Given the description of an element on the screen output the (x, y) to click on. 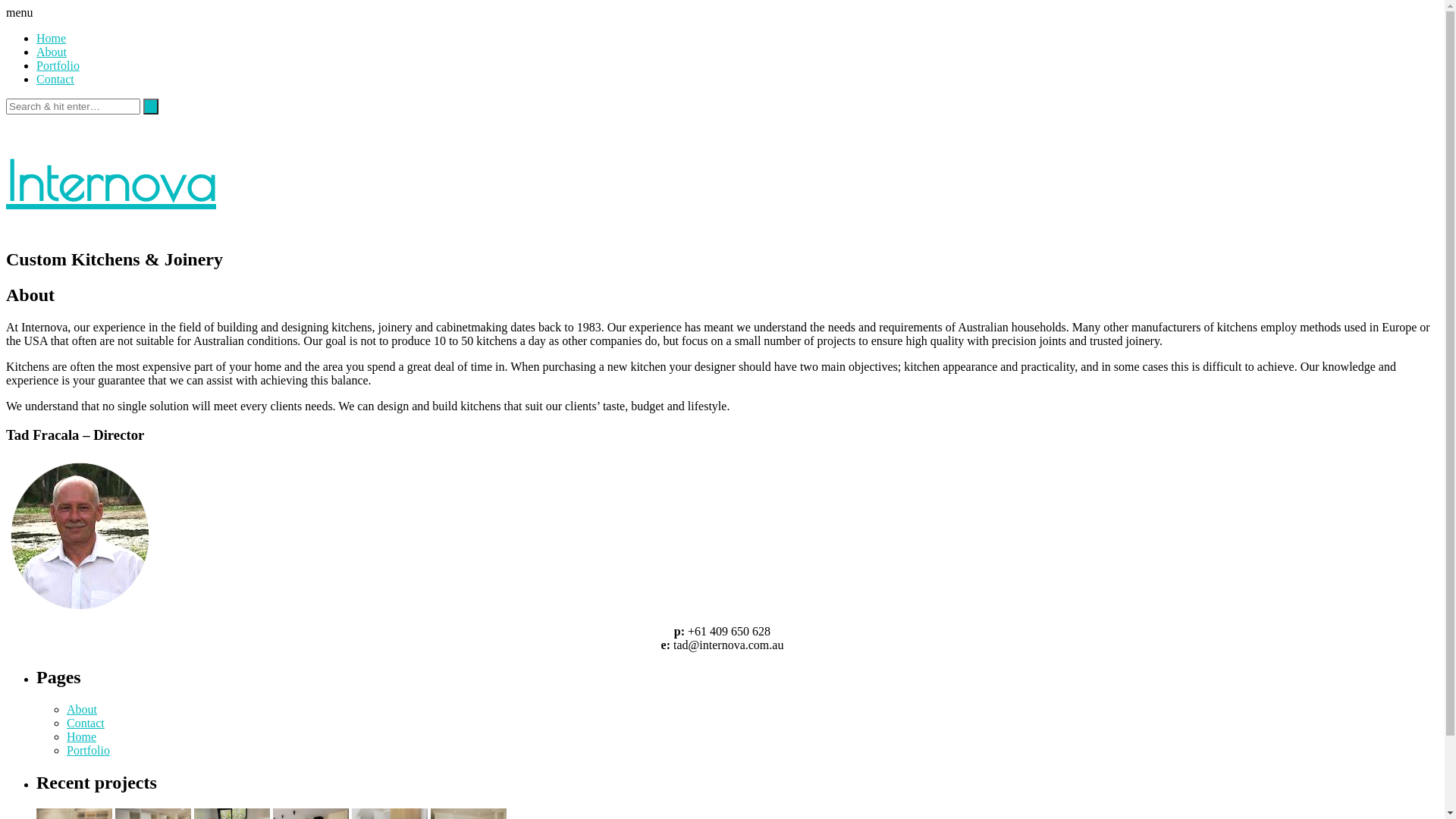
Home Element type: text (81, 736)
Portfolio Element type: text (87, 749)
About Element type: text (51, 51)
Portfolio Element type: text (57, 65)
Internova Element type: text (111, 181)
About Element type: text (81, 708)
Contact Element type: text (55, 78)
Contact Element type: text (85, 722)
Home Element type: text (50, 37)
